Given the description of an element on the screen output the (x, y) to click on. 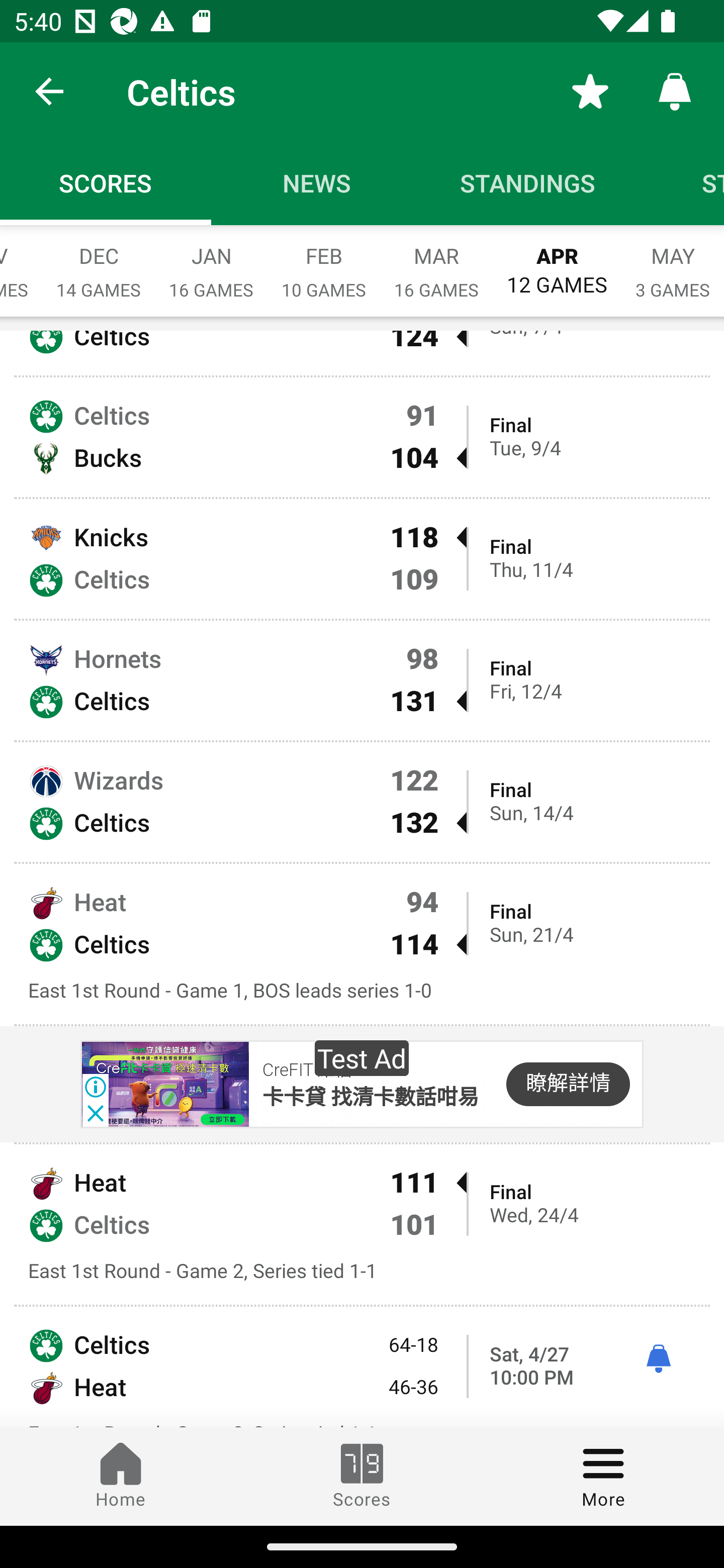
back.button (49, 90)
Favorite toggle (590, 90)
Alerts (674, 90)
News NEWS (316, 183)
Standings STANDINGS (527, 183)
DEC 14 GAMES (97, 262)
JAN 16 GAMES (210, 262)
FEB 10 GAMES (323, 262)
MAR 16 GAMES (436, 262)
APR 12 GAMES (557, 261)
MAY 3 GAMES (672, 262)
Celtics 91 Bucks 104  Final Tue, 9/4 (362, 437)
Knicks 118  Celtics 109 Final Thu, 11/4 (362, 558)
Hornets 98 Celtics 131  Final Fri, 12/4 (362, 680)
Wizards 122 Celtics 132  Final Sun, 14/4 (362, 801)
details%3Fid%3Dcom.vhk (164, 1083)
CreFIT 維信 (307, 1070)
瞭解詳情 (567, 1084)
卡卡貸 找清卡數話咁易 (370, 1096)
ì (658, 1359)
Home (120, 1475)
Scores (361, 1475)
